Given the description of an element on the screen output the (x, y) to click on. 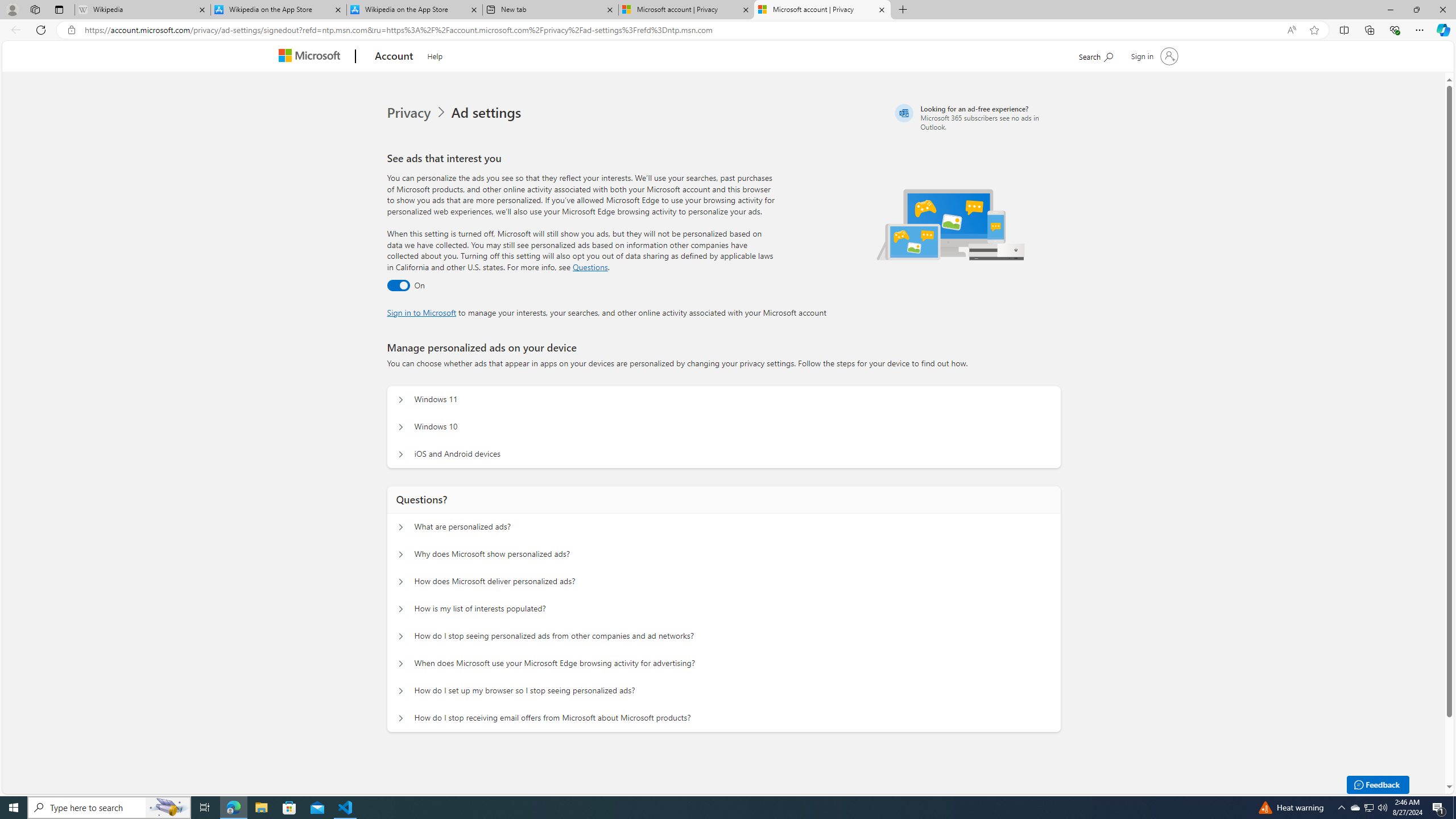
Manage personalized ads on your device Windows 11 (401, 400)
Sign in to Microsoft (422, 311)
Ad settings toggle (398, 285)
Manage personalized ads on your device Windows 10 (401, 427)
